Given the description of an element on the screen output the (x, y) to click on. 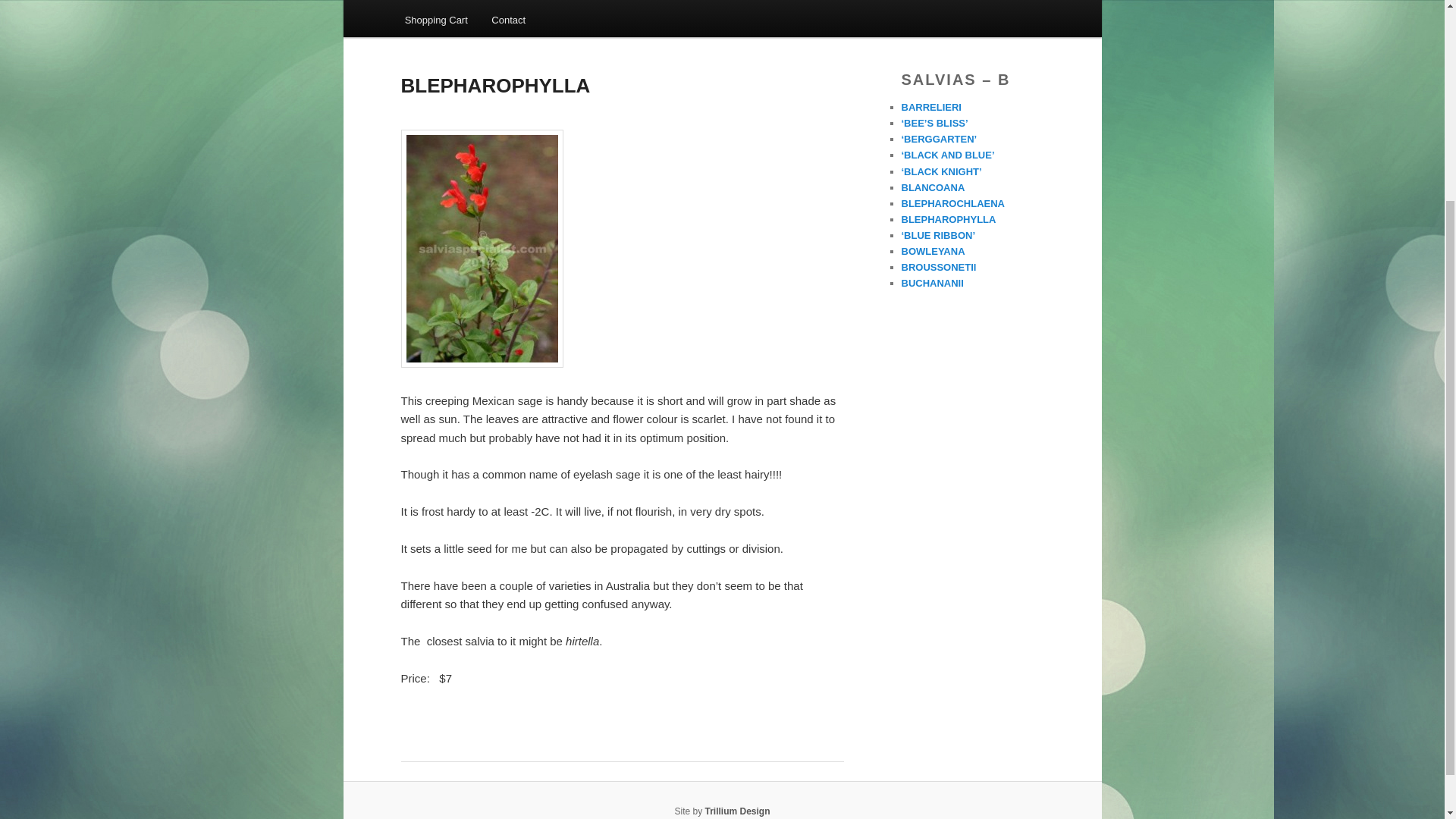
Home (417, 2)
Skip to secondary content (479, 4)
Salvia List (583, 2)
Skip to primary content (472, 4)
Skip to primary content (472, 4)
Skip to secondary content (479, 4)
Home (417, 2)
LEUCOCEPHALA (494, 2)
